Given the description of an element on the screen output the (x, y) to click on. 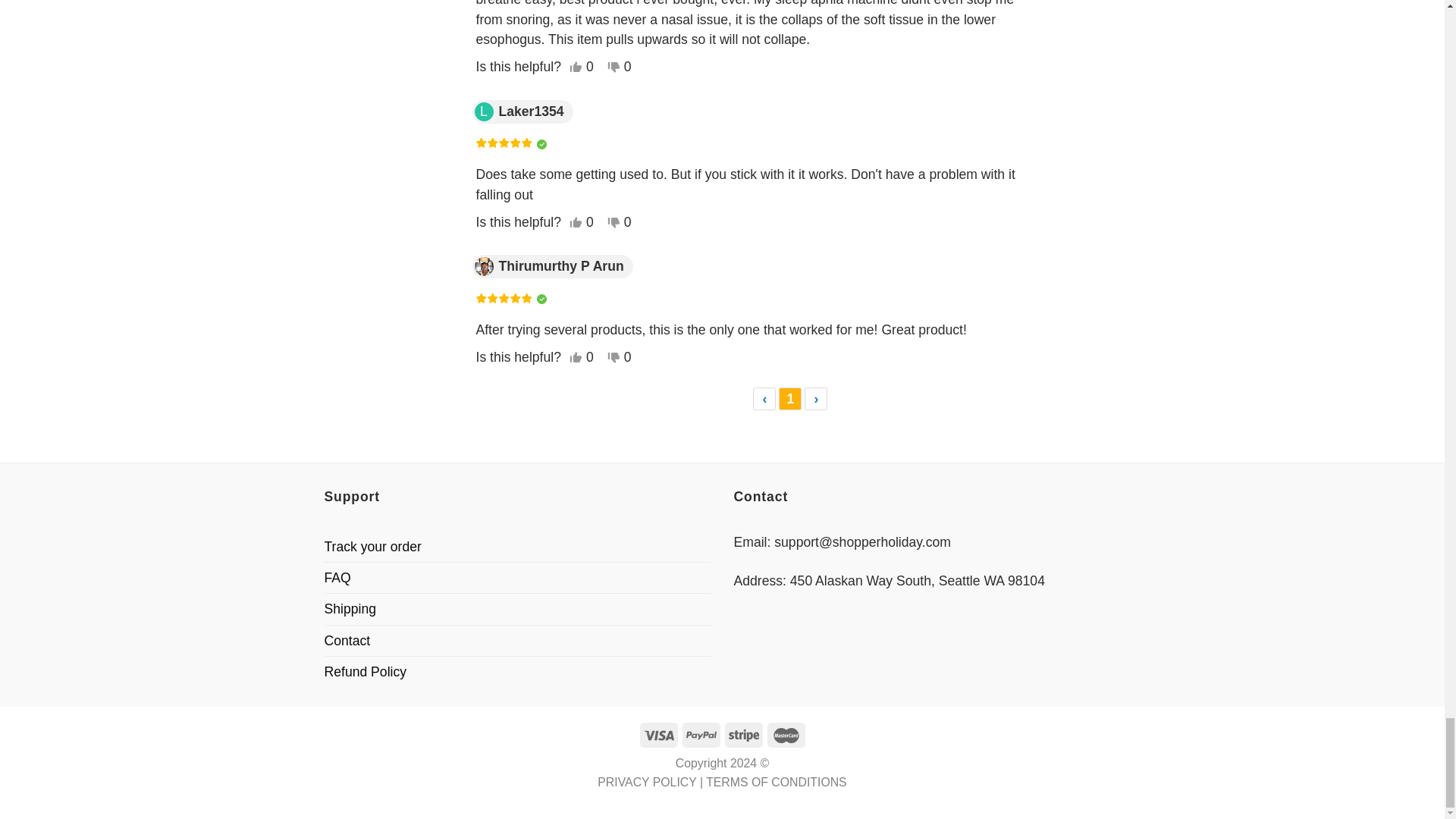
TERMS OF CONDITIONS (776, 781)
PRIVACY POLICY (645, 781)
Shipping (349, 608)
Contact (347, 640)
Refund Policy (365, 671)
1 (789, 398)
Track your order (373, 546)
